Given the description of an element on the screen output the (x, y) to click on. 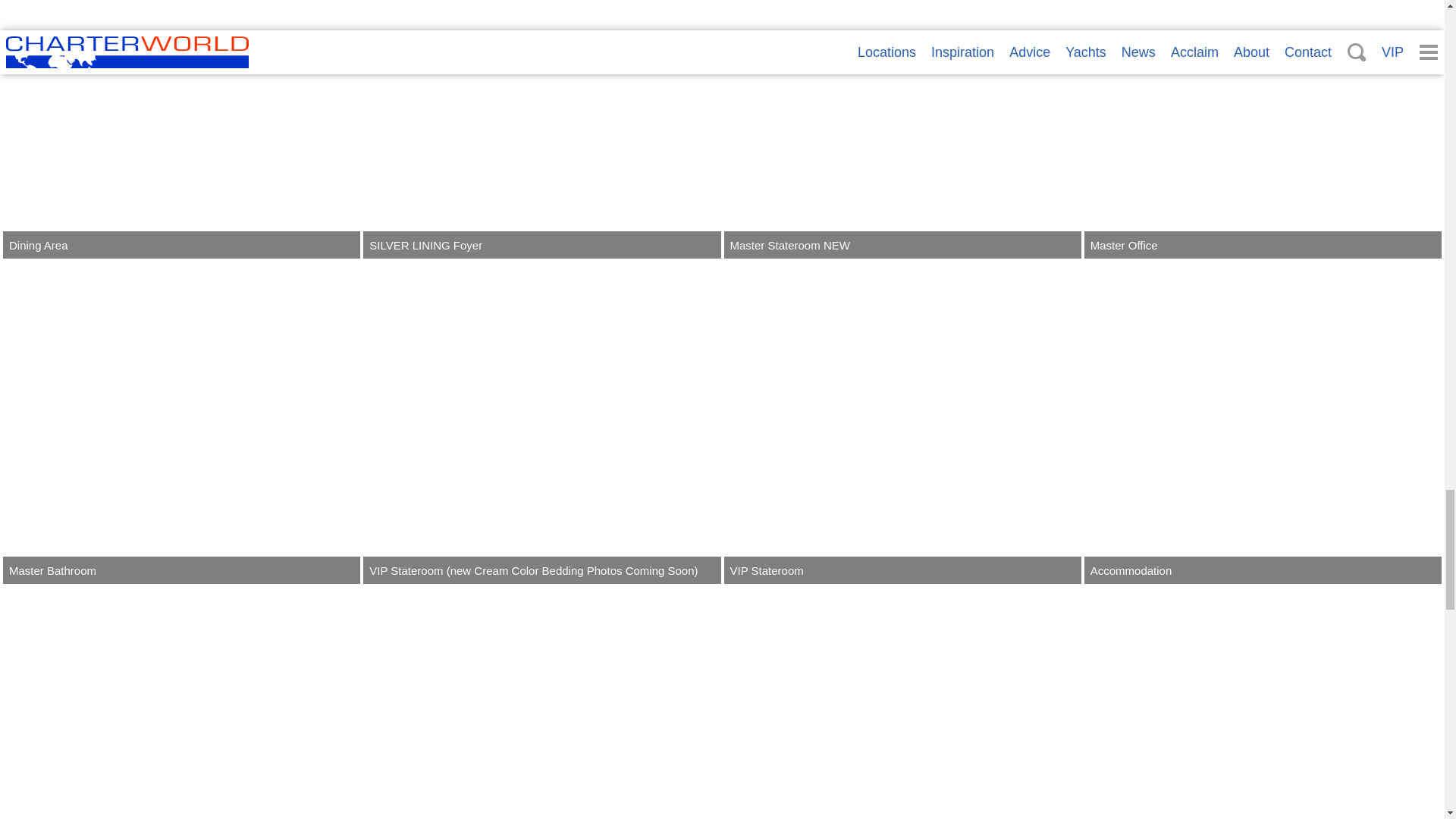
Dining Area (180, 129)
